Given the description of an element on the screen output the (x, y) to click on. 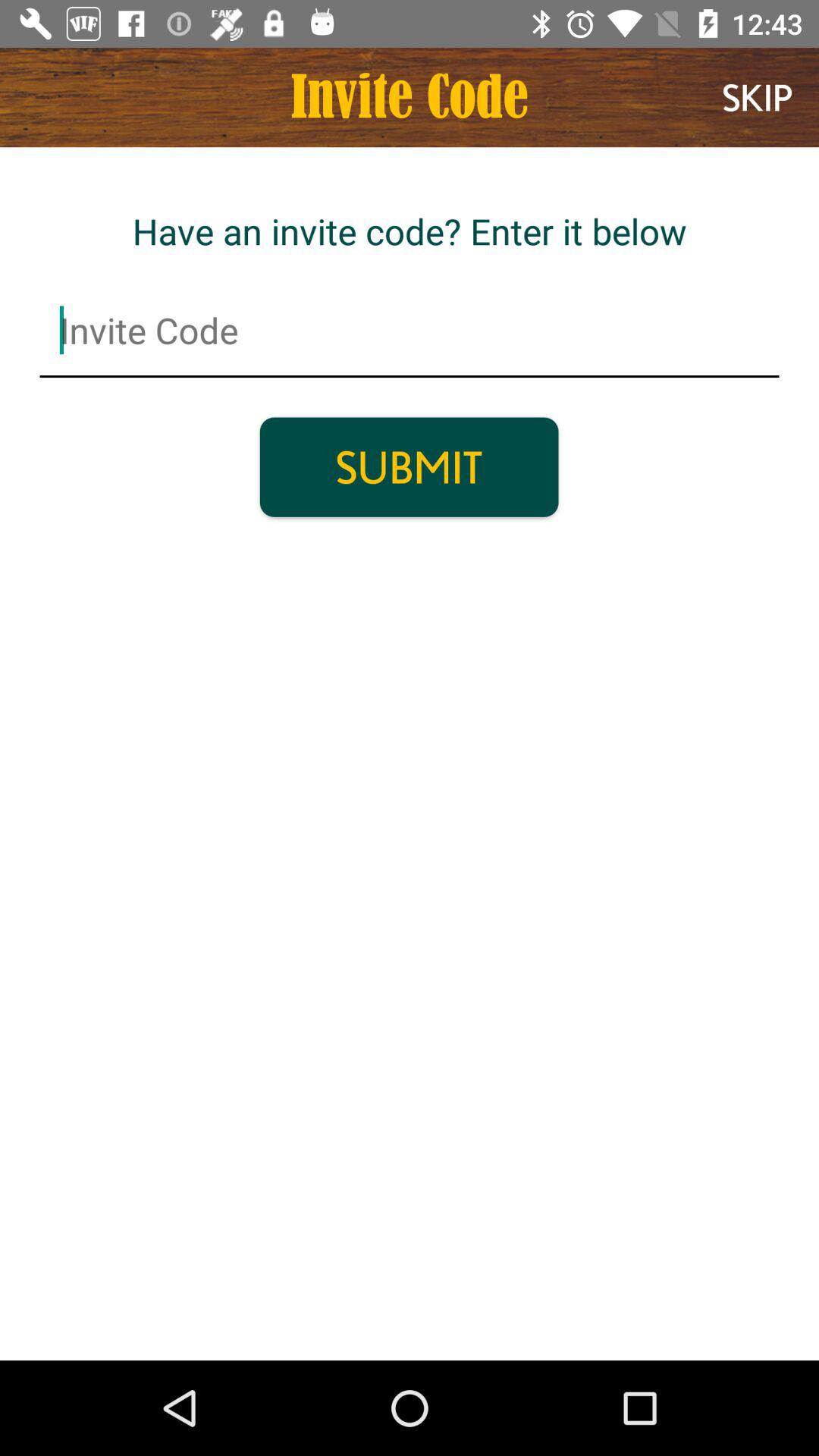
select item at the top right corner (757, 97)
